Given the description of an element on the screen output the (x, y) to click on. 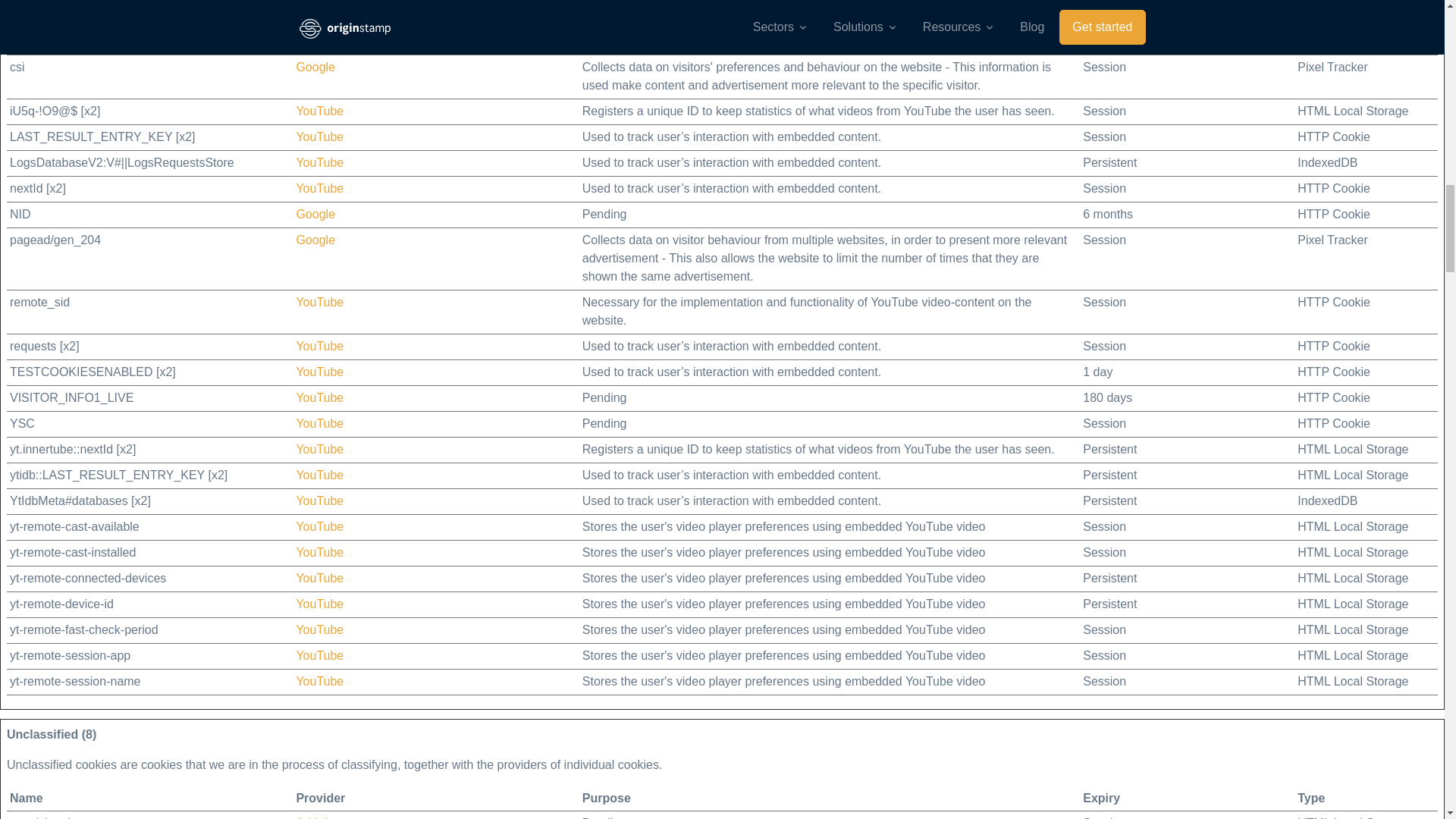
Adthrive's privacy policy (317, 2)
YouTube's privacy policy (319, 136)
Google's privacy policy (314, 214)
YouTube (319, 345)
YouTube (319, 422)
YouTube (319, 680)
Google (314, 239)
YouTube (319, 500)
YouTube (319, 136)
YouTube's privacy policy (319, 187)
YouTube (319, 629)
YouTube (319, 552)
Adthrive (317, 2)
Google's privacy policy (314, 22)
YouTube (319, 449)
